Given the description of an element on the screen output the (x, y) to click on. 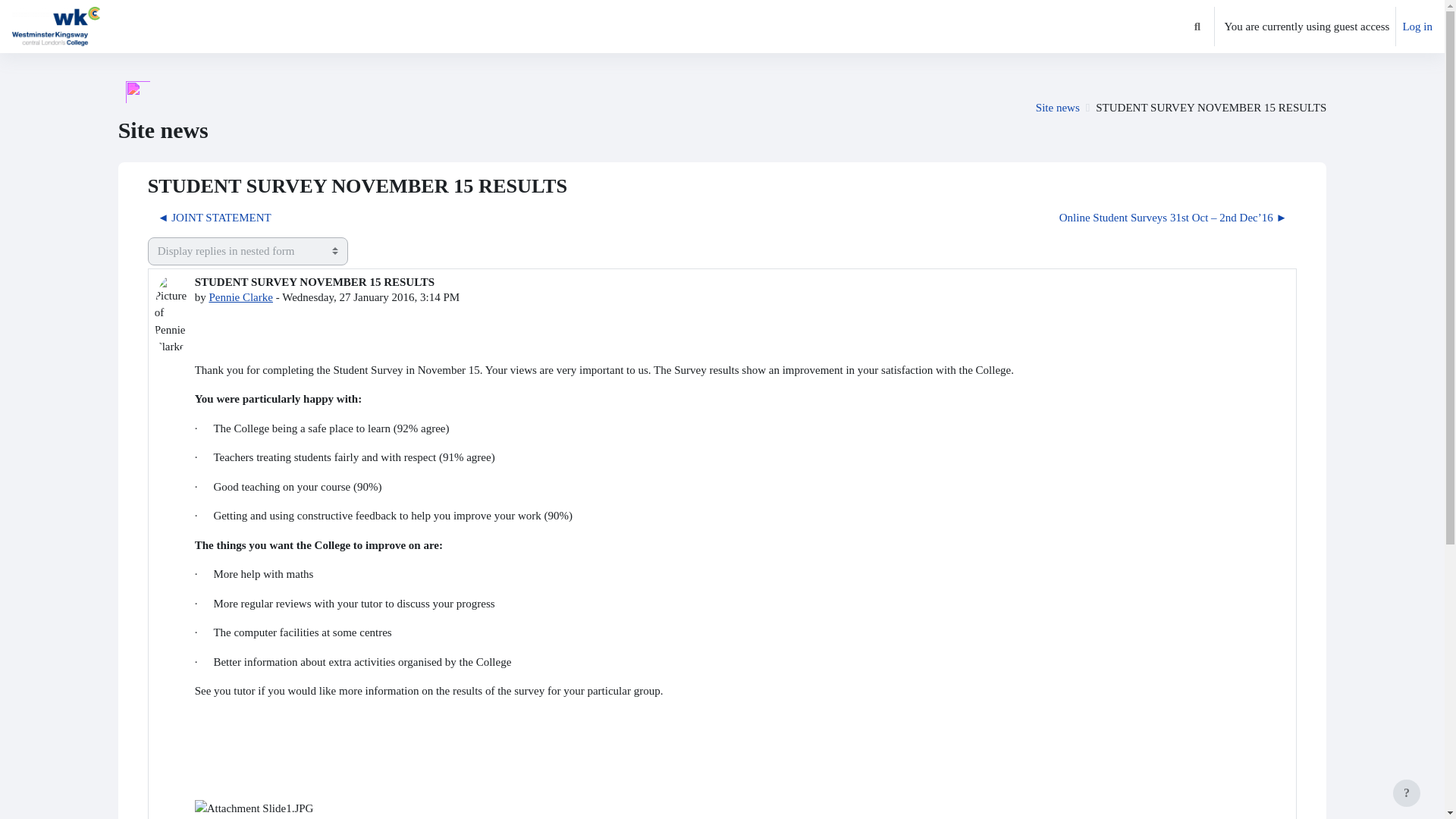
Permalink (1257, 818)
Log in (1417, 27)
Permanent link to this post (1257, 818)
Pennie Clarke (240, 297)
Forum (1057, 107)
Site news (1057, 107)
